Given the description of an element on the screen output the (x, y) to click on. 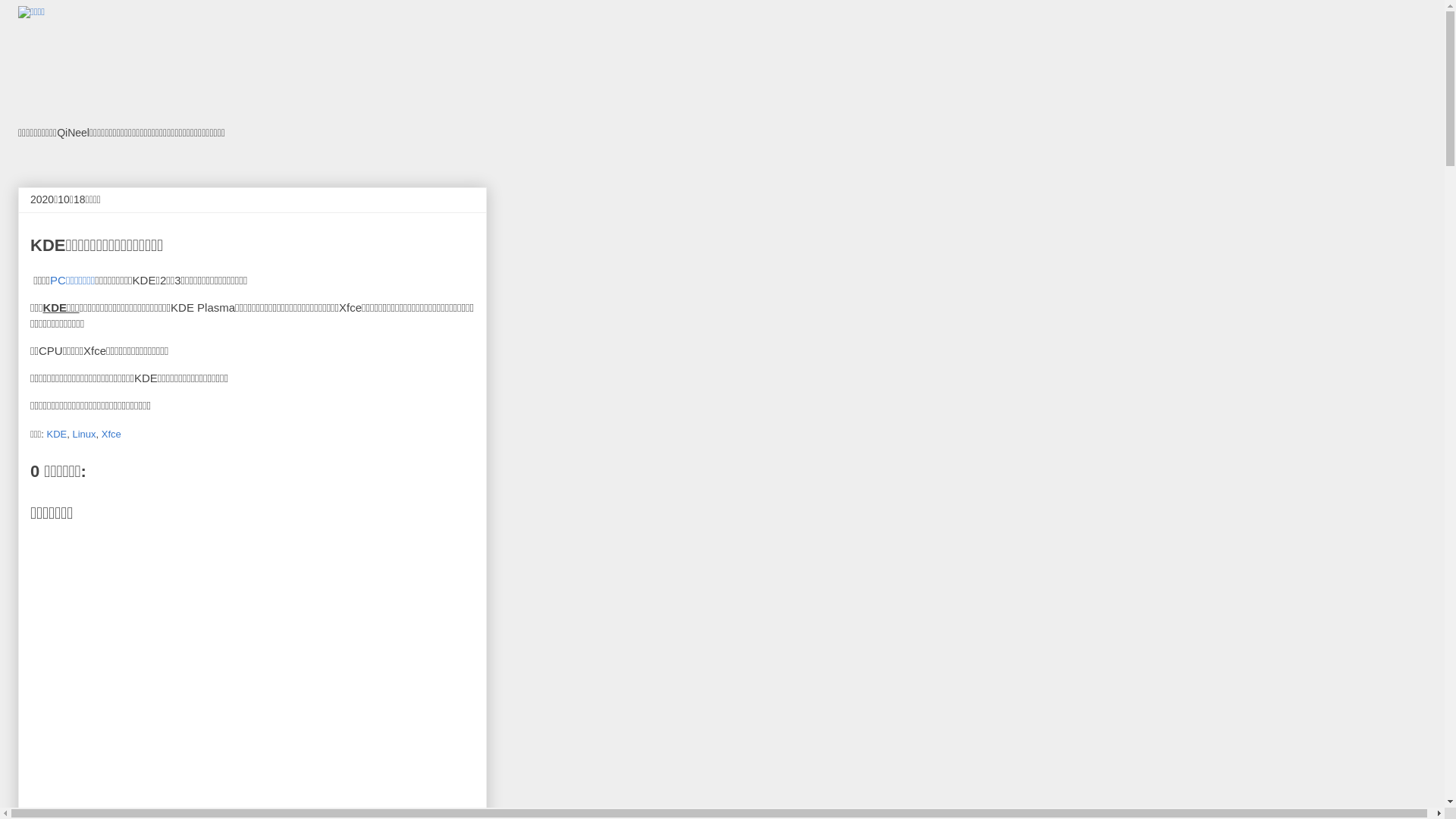
KDE Element type: text (56, 433)
Xfce Element type: text (111, 433)
Linux Element type: text (83, 433)
